Given the description of an element on the screen output the (x, y) to click on. 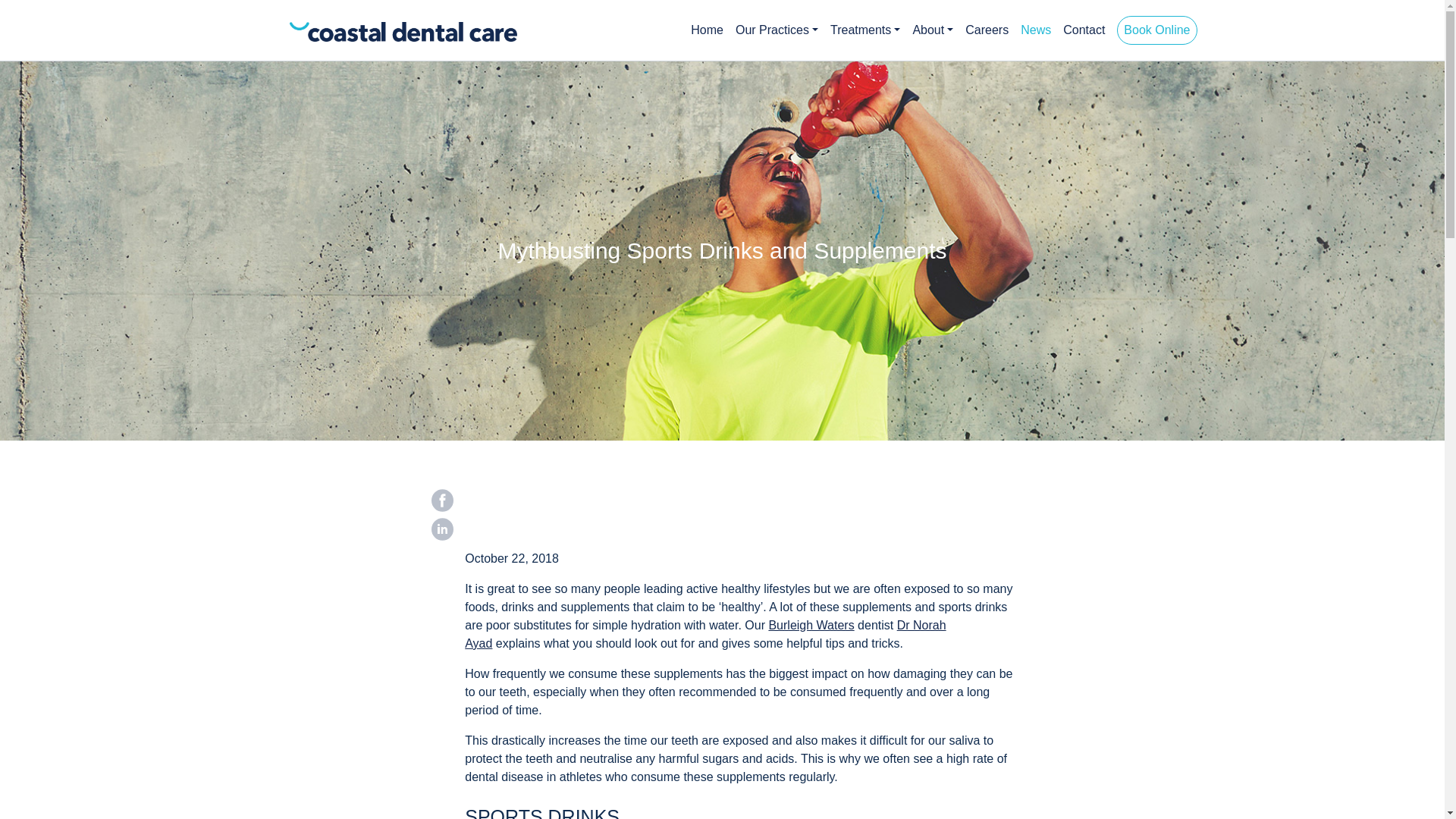
News (1035, 30)
Our Practices (776, 30)
Treatments (864, 30)
Our Practices (776, 30)
Home (706, 30)
Careers (986, 30)
Home (706, 30)
Treatments (864, 30)
Contact (1083, 30)
About (932, 30)
Coastal Dental Care (378, 29)
